Given the description of an element on the screen output the (x, y) to click on. 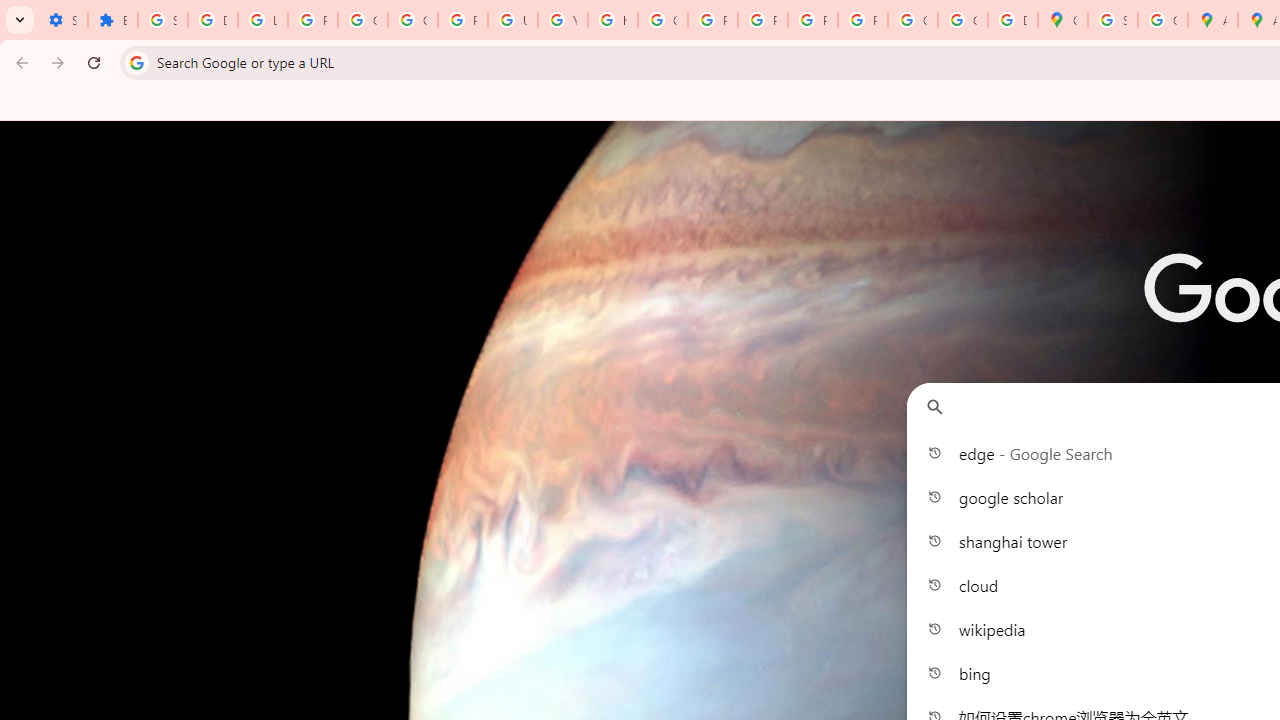
Google Maps (1062, 20)
Sign in - Google Accounts (163, 20)
Create your Google Account (1162, 20)
Google Account Help (362, 20)
Privacy Help Center - Policies Help (712, 20)
